Given the description of an element on the screen output the (x, y) to click on. 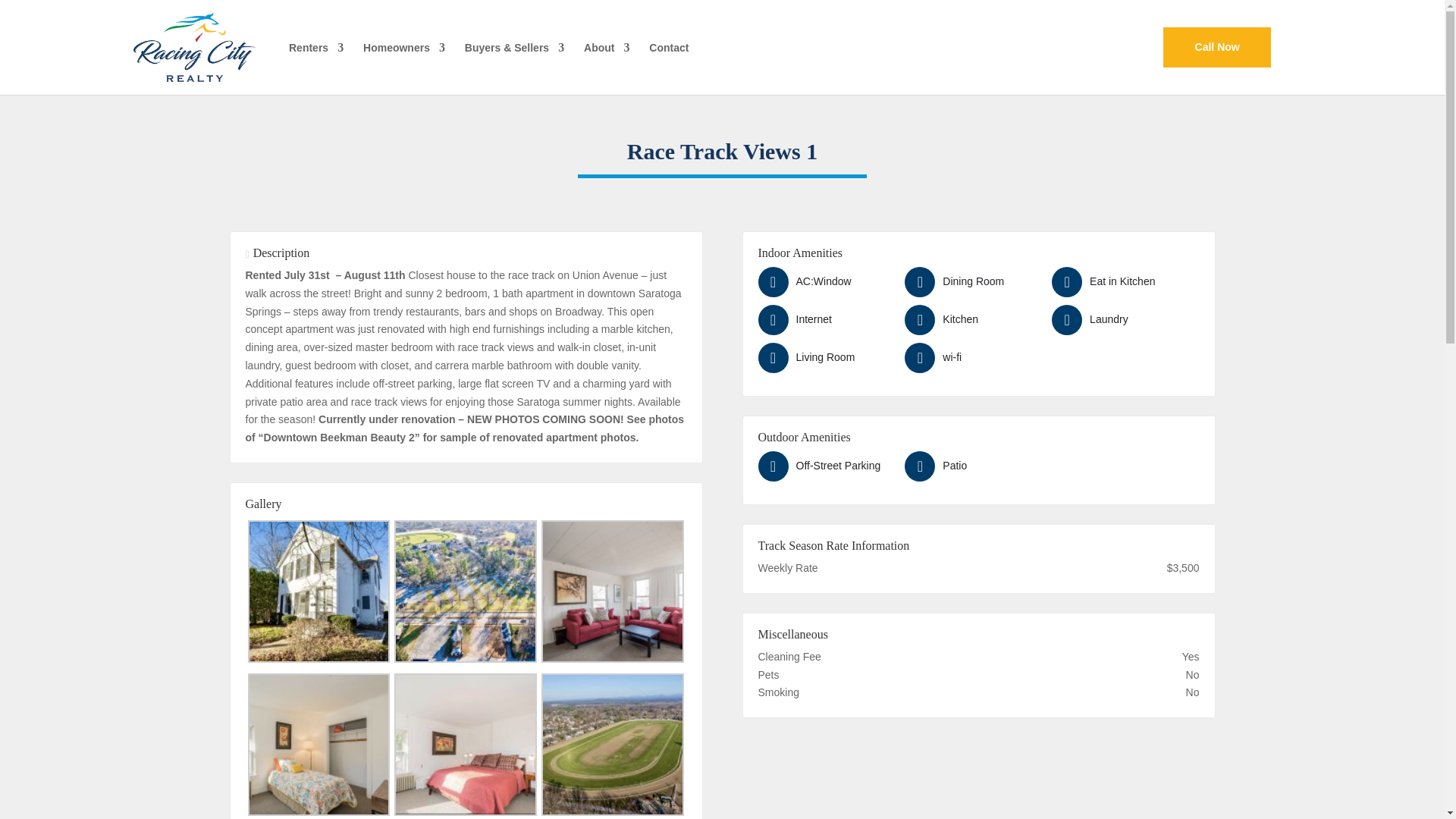
About (605, 59)
Homeowners (403, 59)
Contact (668, 59)
Call Now (1217, 47)
AC:Window (828, 281)
Renters (315, 59)
